Given the description of an element on the screen output the (x, y) to click on. 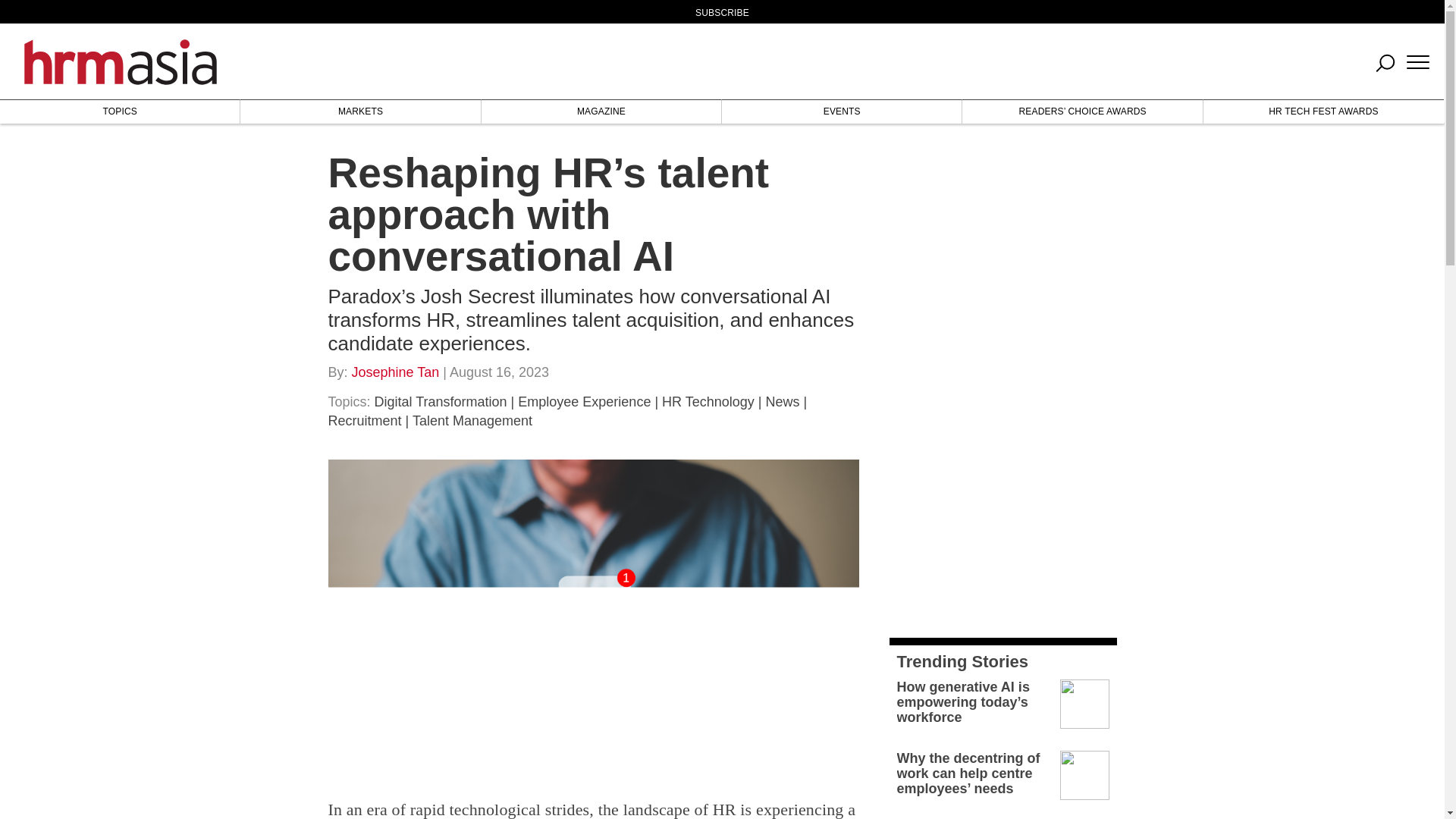
Posts by Josephine Tan (395, 372)
MAGAZINE (600, 111)
HR TECH FEST AWARDS (1324, 111)
TOPICS (120, 111)
EVENTS (841, 111)
SUBSCRIBE (722, 11)
MARKETS (360, 111)
